Given the description of an element on the screen output the (x, y) to click on. 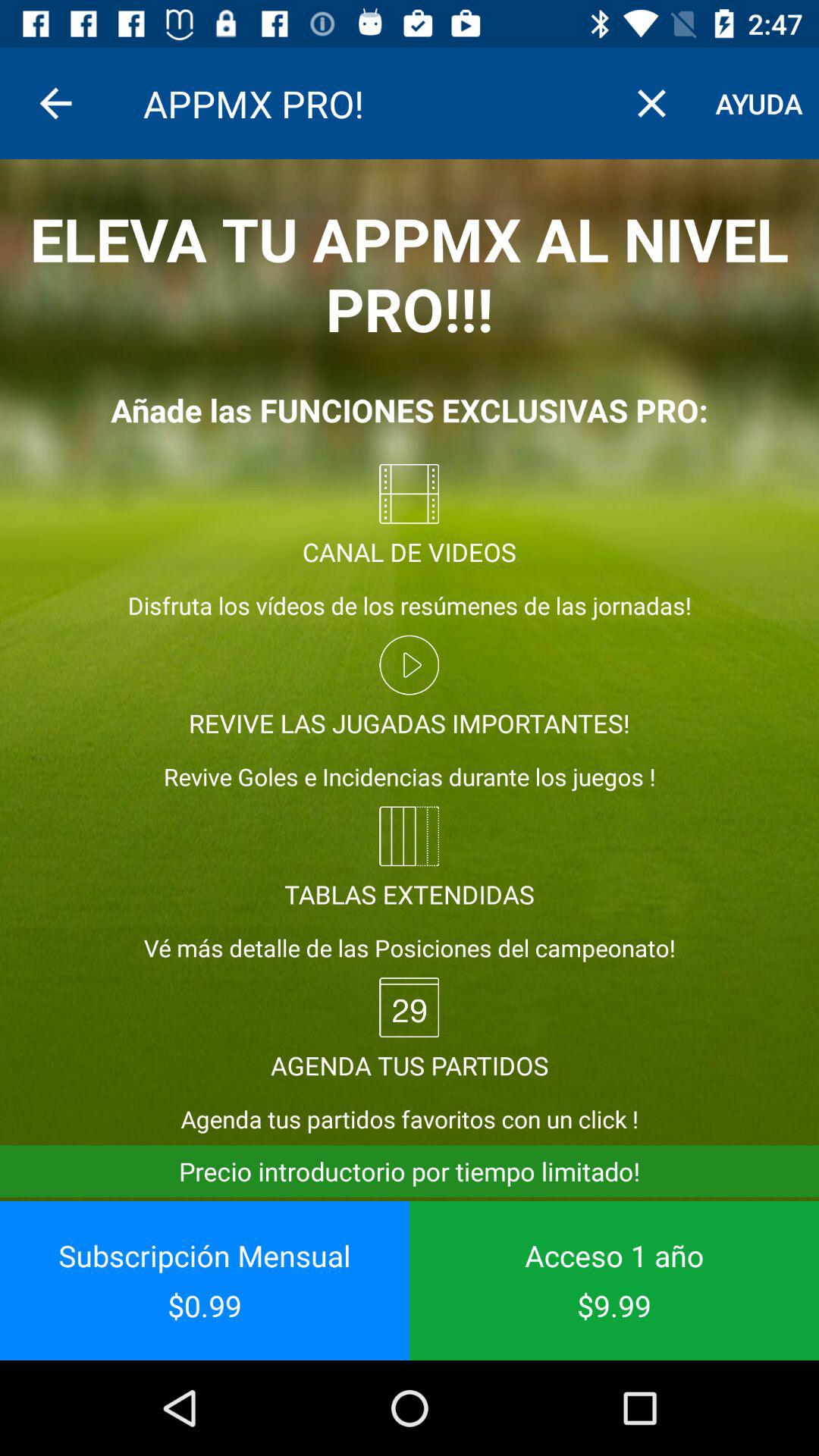
tap the item to the right of the appmx pro! item (651, 103)
